Given the description of an element on the screen output the (x, y) to click on. 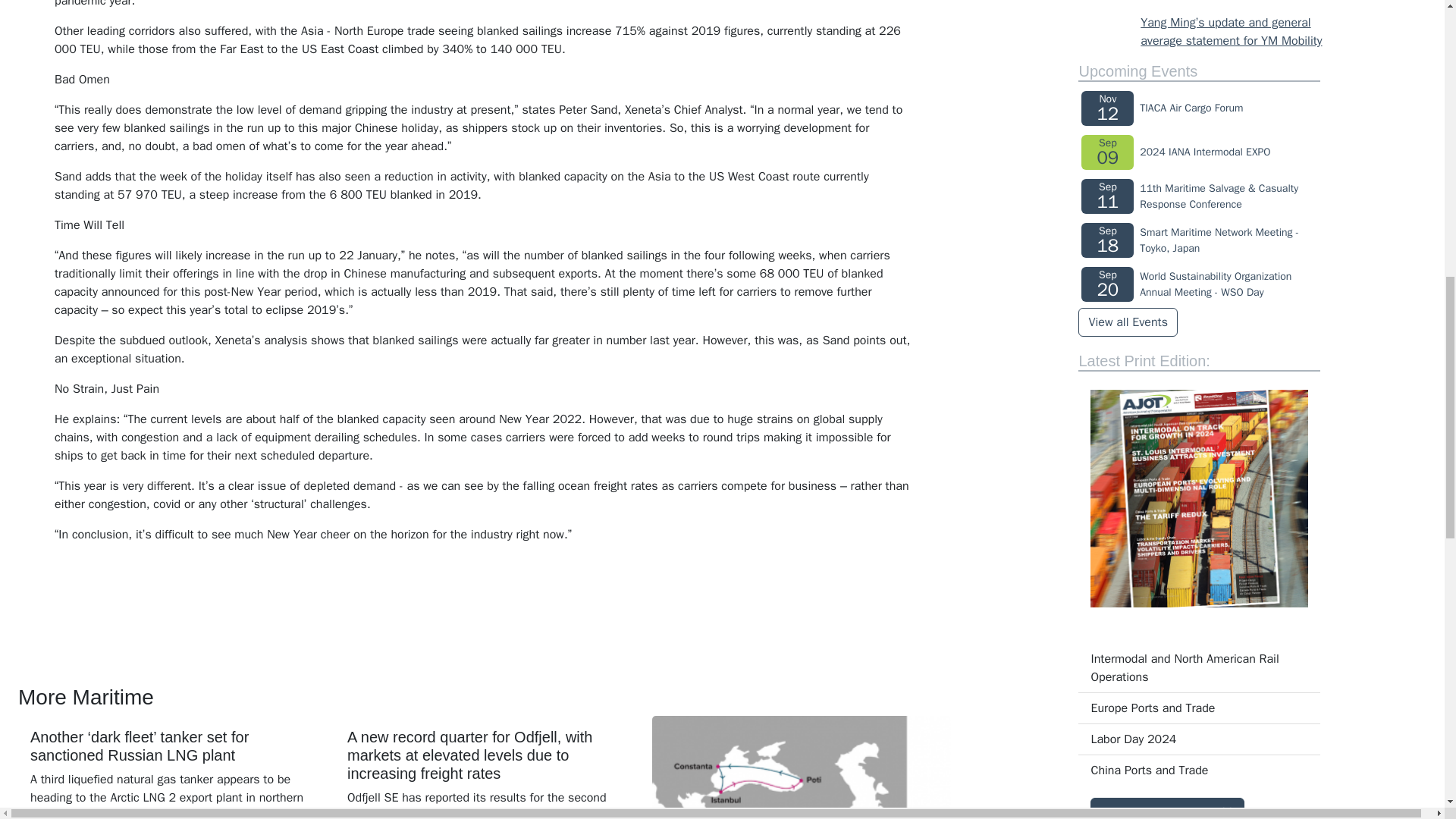
View Full Events Calendar (1127, 321)
